Given the description of an element on the screen output the (x, y) to click on. 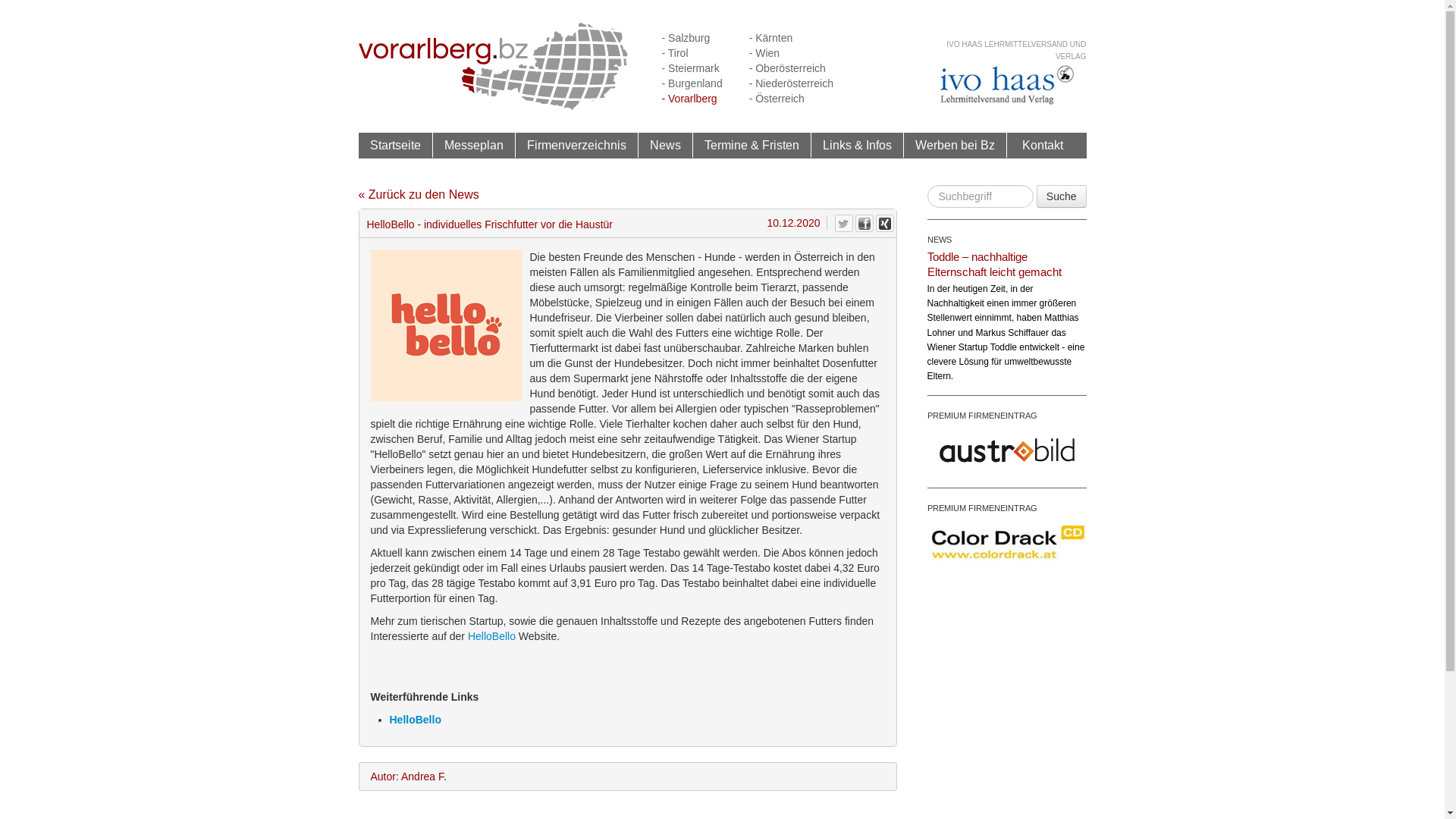
- Vorarlberg Element type: text (688, 98)
Links & Infos Element type: text (857, 144)
Autor: Andrea F. Element type: text (627, 776)
Messeplan Element type: text (473, 144)
NEWS Element type: text (938, 239)
Twittern Element type: hover (843, 223)
IVO HAAS LEHRMITTELVERSAND UND VERLAG Element type: text (1015, 50)
Links & Infos Element type: text (856, 144)
Zur Startseite von Vorarlberg.bz Element type: hover (492, 65)
News Element type: text (664, 144)
Startseite Element type: text (394, 144)
- Steiermark Element type: text (689, 68)
- Tirol Element type: text (674, 53)
Termine & Fristen Element type: text (750, 144)
PREMIUM FIRMENEINTRAG Element type: text (981, 507)
Firmenverzeichnis Element type: text (575, 144)
Werben bei Bz Element type: text (954, 144)
News Element type: text (665, 144)
Suche Element type: text (1061, 196)
Werben bei Bz Element type: text (955, 144)
- Wien Element type: text (764, 53)
Kontakt Element type: text (1042, 144)
Startseite Element type: text (395, 144)
Ivo Haas Lehrmittelversand und Verlag Element type: hover (1005, 84)
Messeplan Element type: text (473, 144)
HelloBello Element type: text (491, 636)
Zum Premium-Firmeneintrag von AustroBild.at Element type: hover (1005, 448)
Teilen Element type: hover (884, 223)
- Burgenland Element type: text (691, 83)
Firmenverzeichnis Element type: text (576, 144)
Teilen Element type: hover (864, 223)
- Salzburg Element type: text (685, 37)
Kontakt Element type: text (1042, 144)
Termine & Fristen Element type: text (752, 144)
HelloBello Element type: text (415, 719)
PREMIUM FIRMENEINTRAG Element type: text (981, 415)
